Given the description of an element on the screen output the (x, y) to click on. 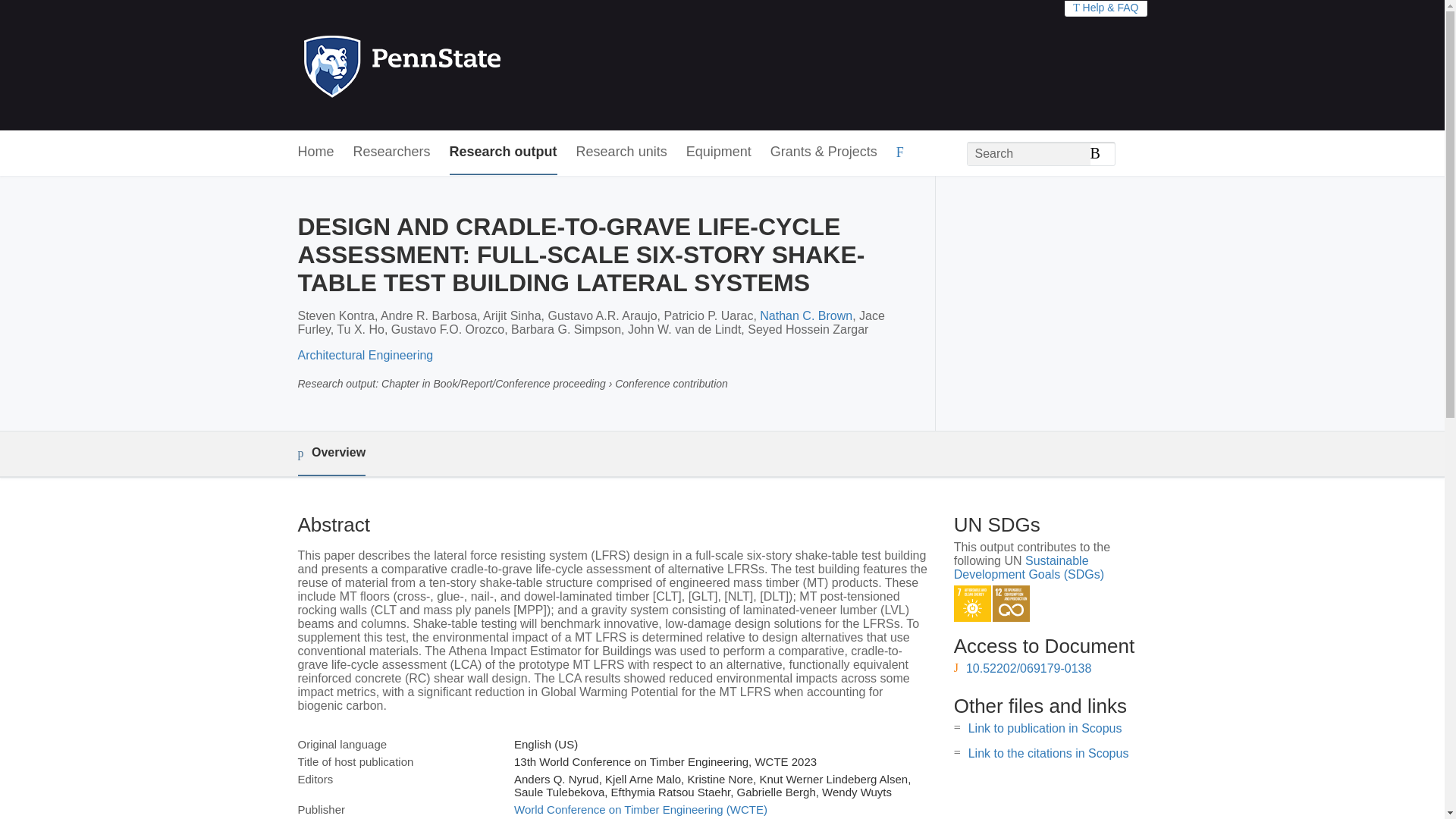
Link to publication in Scopus (1045, 727)
SDG 7 - Affordable and Clean Energy (972, 603)
Link to the citations in Scopus (1048, 753)
Overview (331, 453)
Research units (621, 152)
Research output (503, 152)
Researchers (391, 152)
Penn State Home (467, 65)
Nathan C. Brown (805, 315)
Equipment (718, 152)
SDG 12 - Responsible Consumption and Production (1010, 603)
Architectural Engineering (364, 354)
